Given the description of an element on the screen output the (x, y) to click on. 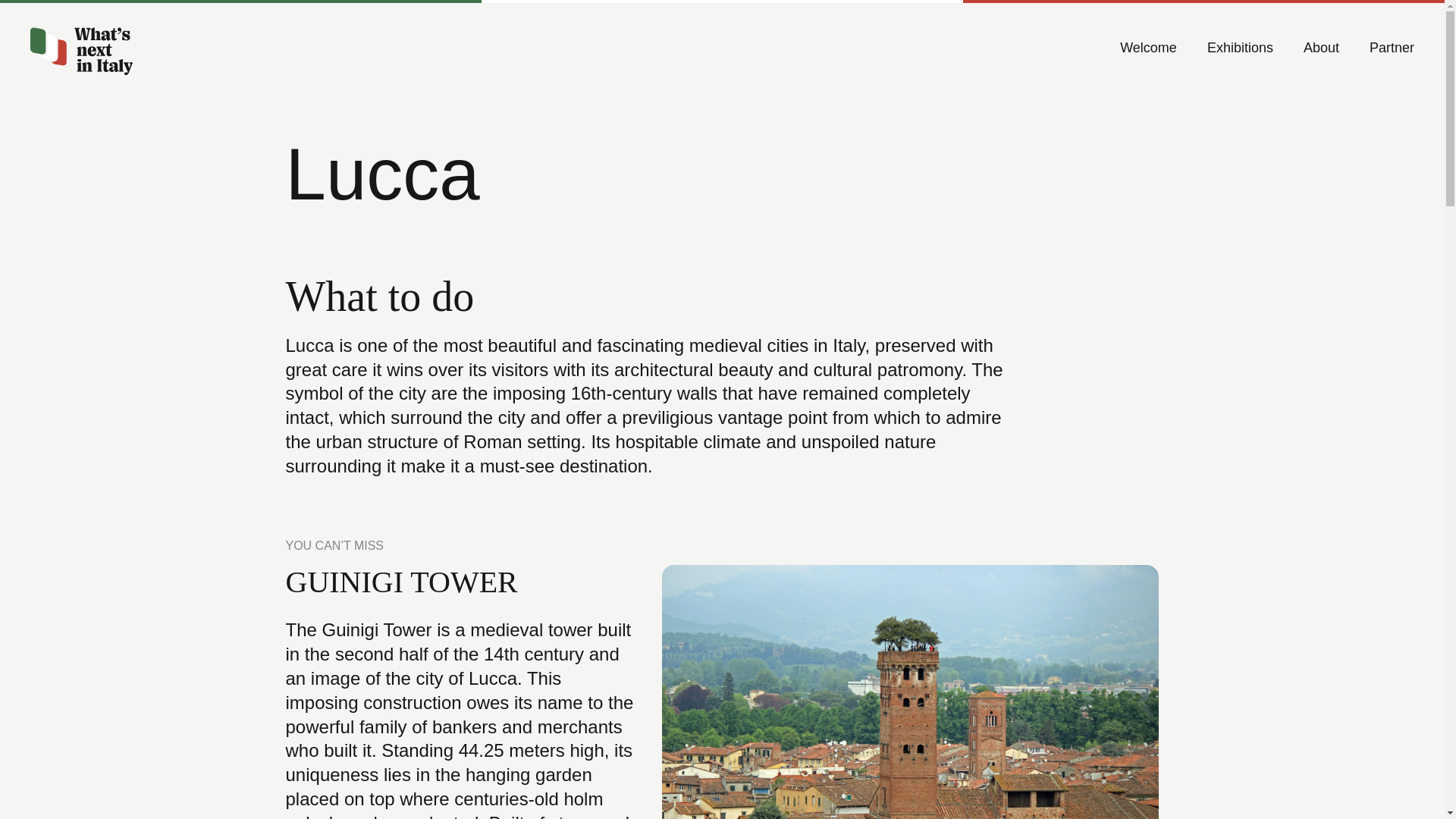
Exhibitions (1239, 47)
What's Next in Italy (81, 48)
What's Next in Italy (81, 48)
Partner (1391, 47)
Welcome (1147, 47)
